Given the description of an element on the screen output the (x, y) to click on. 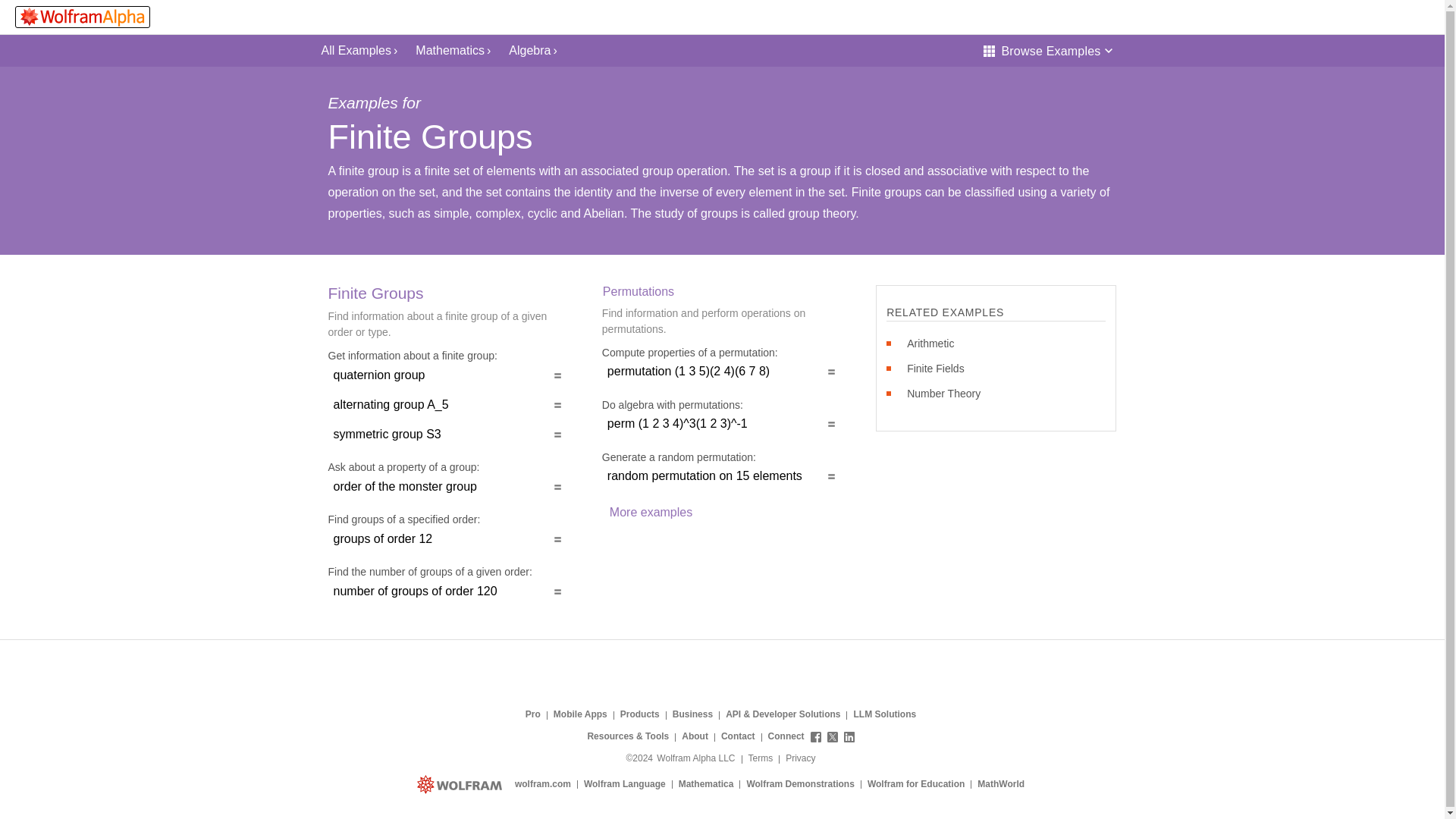
Browse Examples (1047, 50)
Connect (811, 737)
MathWorld (1000, 784)
Permutations (638, 291)
Privacy (800, 759)
Wolfram Language (624, 784)
wolfram.com (542, 784)
random permutation on 15 elements (722, 476)
LLM Solutions (884, 714)
Pro (532, 714)
